Given the description of an element on the screen output the (x, y) to click on. 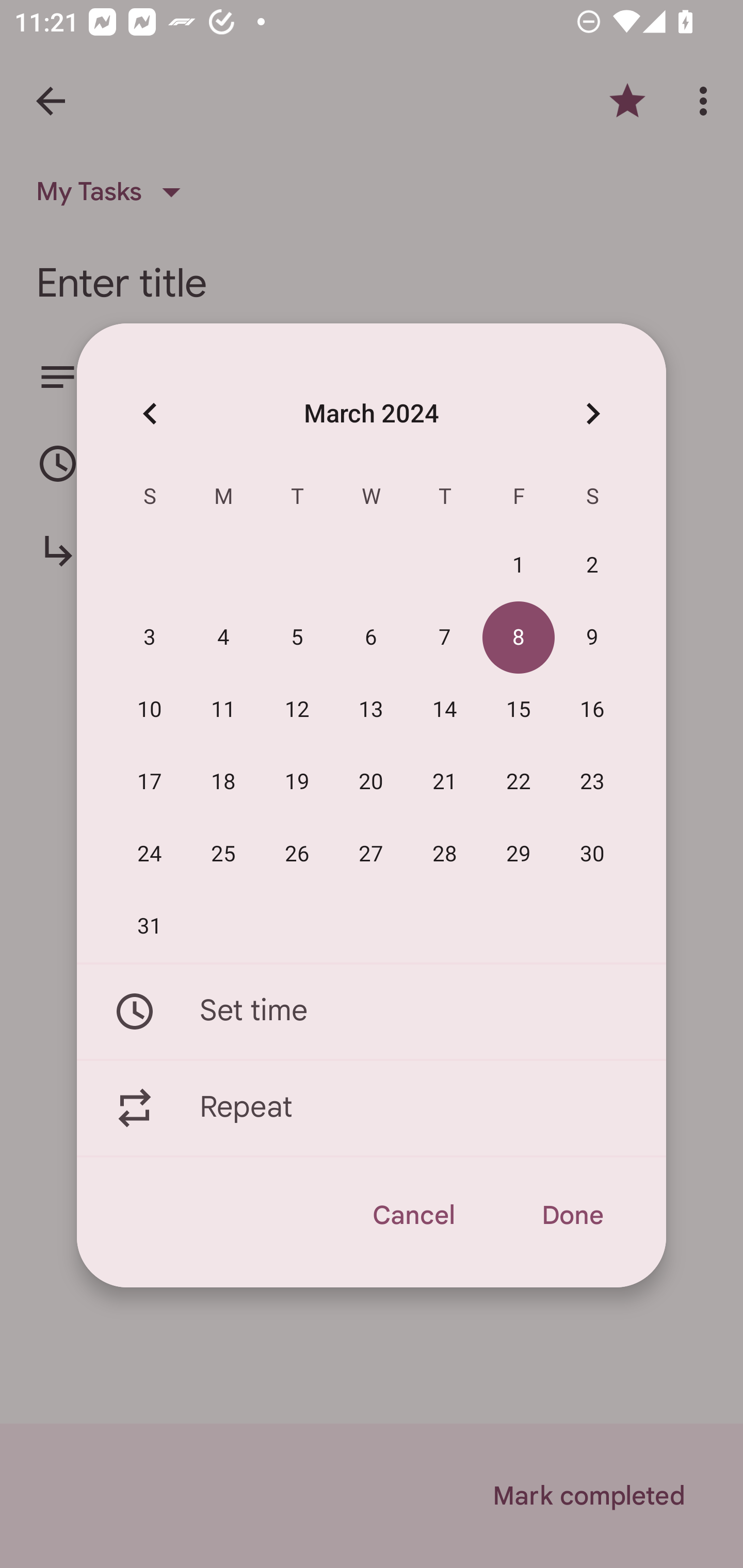
Previous month (149, 413)
Next month (592, 413)
1 01 March 2024 (518, 565)
2 02 March 2024 (592, 565)
3 03 March 2024 (149, 638)
4 04 March 2024 (223, 638)
5 05 March 2024 (297, 638)
6 06 March 2024 (370, 638)
7 07 March 2024 (444, 638)
8 08 March 2024 (518, 638)
9 09 March 2024 (592, 638)
10 10 March 2024 (149, 710)
11 11 March 2024 (223, 710)
12 12 March 2024 (297, 710)
13 13 March 2024 (370, 710)
14 14 March 2024 (444, 710)
15 15 March 2024 (518, 710)
16 16 March 2024 (592, 710)
17 17 March 2024 (149, 782)
18 18 March 2024 (223, 782)
19 19 March 2024 (297, 782)
20 20 March 2024 (370, 782)
21 21 March 2024 (444, 782)
22 22 March 2024 (518, 782)
23 23 March 2024 (592, 782)
24 24 March 2024 (149, 854)
25 25 March 2024 (223, 854)
26 26 March 2024 (297, 854)
27 27 March 2024 (370, 854)
28 28 March 2024 (444, 854)
29 29 March 2024 (518, 854)
30 30 March 2024 (592, 854)
31 31 March 2024 (149, 926)
Set time (371, 1011)
Repeat (371, 1108)
Cancel (412, 1215)
Done (571, 1215)
